Given the description of an element on the screen output the (x, y) to click on. 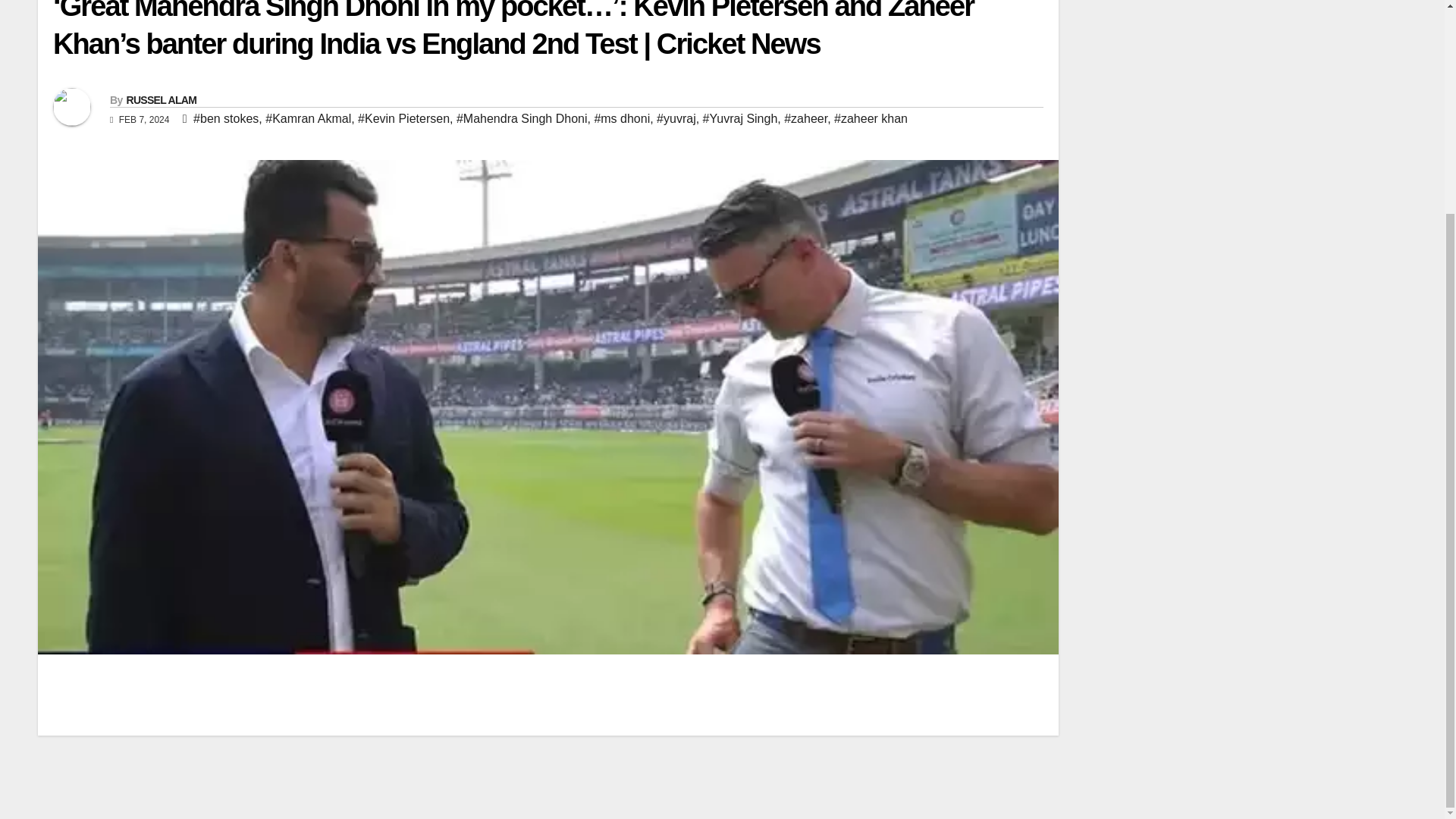
RUSSEL ALAM (160, 100)
